Given the description of an element on the screen output the (x, y) to click on. 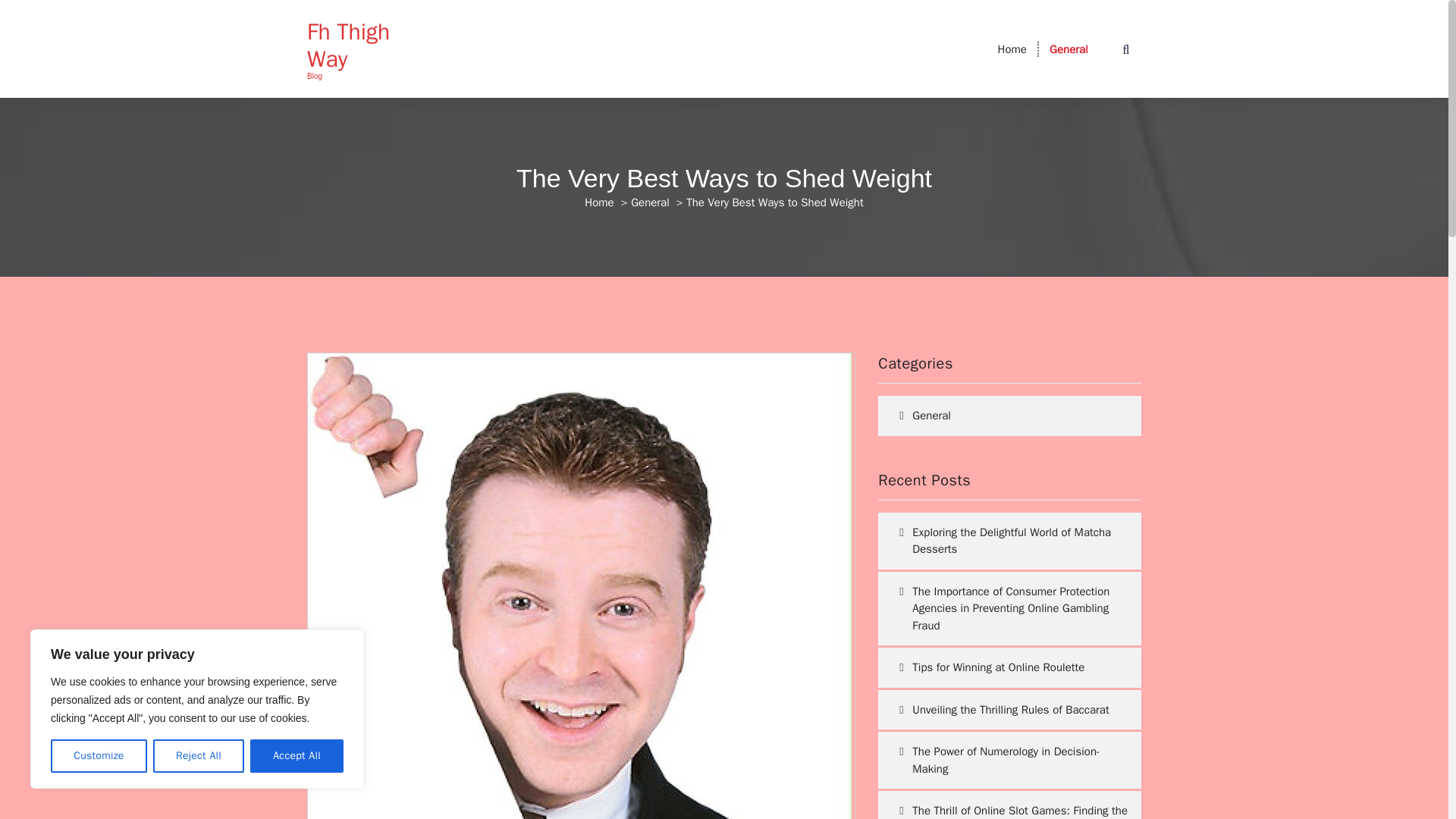
Customize (98, 756)
Fh Thigh Way (366, 45)
General (1068, 49)
General (1068, 49)
Home (598, 202)
Accept All (296, 756)
Reject All (198, 756)
Home (1012, 49)
General (649, 202)
Home (1012, 49)
